Given the description of an element on the screen output the (x, y) to click on. 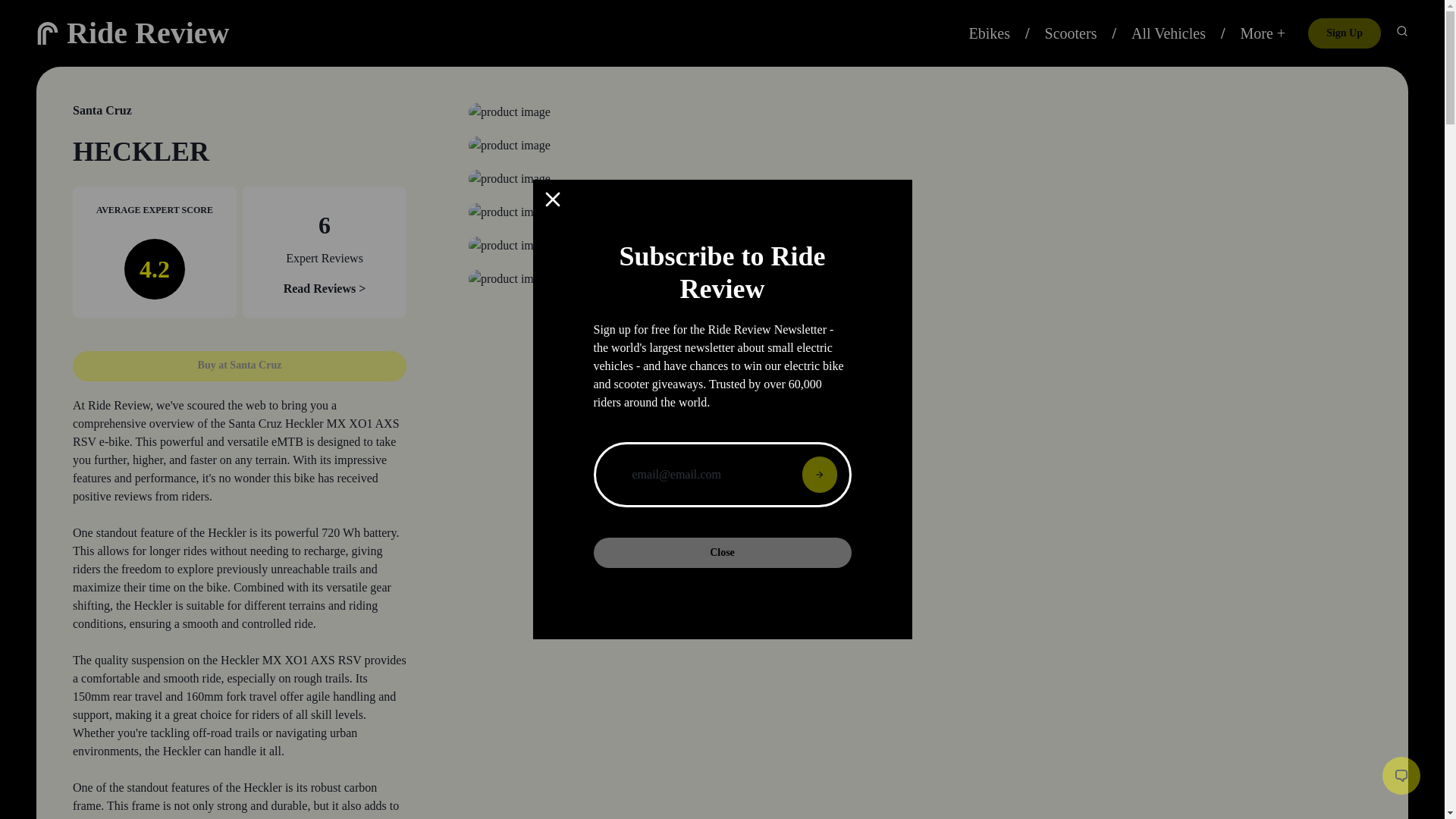
Ride Review (147, 32)
Buy at Santa Cruz (239, 366)
All Vehicles (1168, 33)
Buy at Santa Cruz (239, 356)
Scooters (1071, 33)
Sign Up (1343, 33)
Santa Cruz (102, 110)
Ebikes (989, 33)
